Given the description of an element on the screen output the (x, y) to click on. 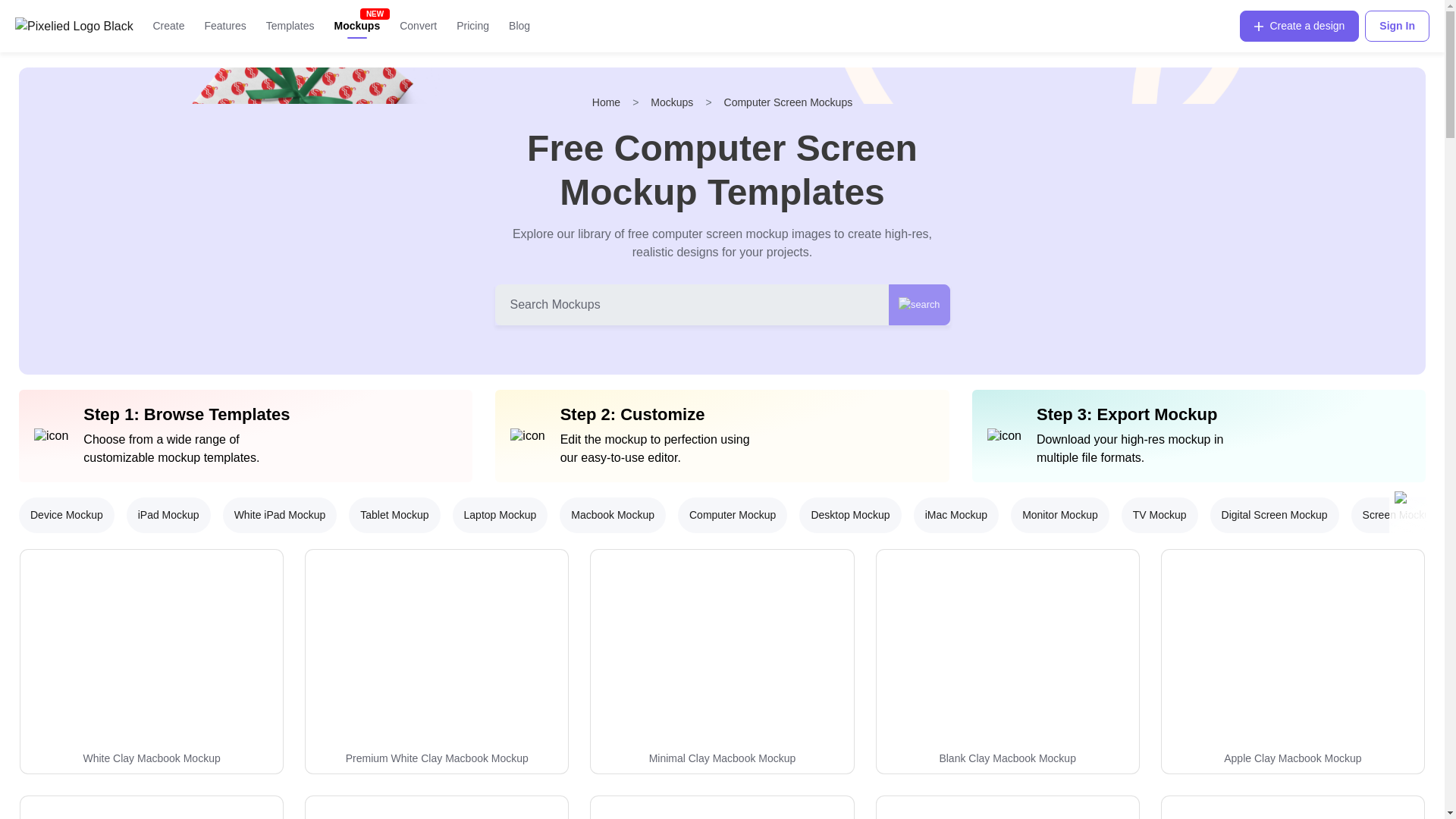
Mockups (357, 26)
Sign In (1397, 25)
iPad Mockup (168, 515)
White iPad Mockup (279, 515)
Blank Clay Macbook Mockup (1008, 660)
Minimal Clay Macbook Mockup (721, 758)
Tablet Mockup (394, 515)
Macbook Mockup (612, 515)
Premium White Clay Macbook Mockup (436, 660)
Home (606, 102)
Apple Clay Macbook Mockup (1292, 660)
iMac Mockup (956, 515)
White Clay Macbook Mockup (151, 758)
Flat Tv Mockup (151, 807)
Premium White Clay Macbook Mockup (436, 758)
